Given the description of an element on the screen output the (x, y) to click on. 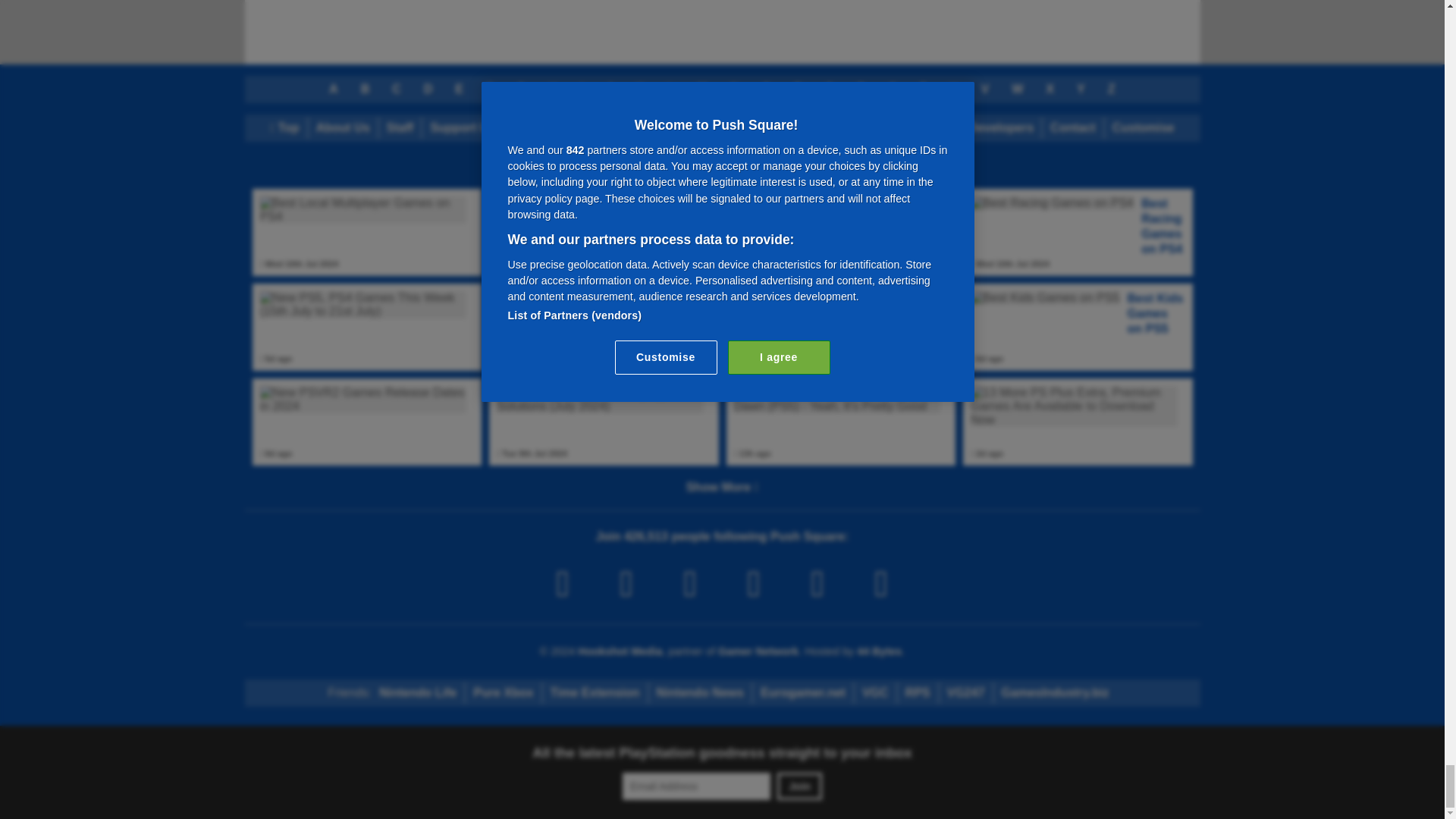
Join (799, 786)
